Given the description of an element on the screen output the (x, y) to click on. 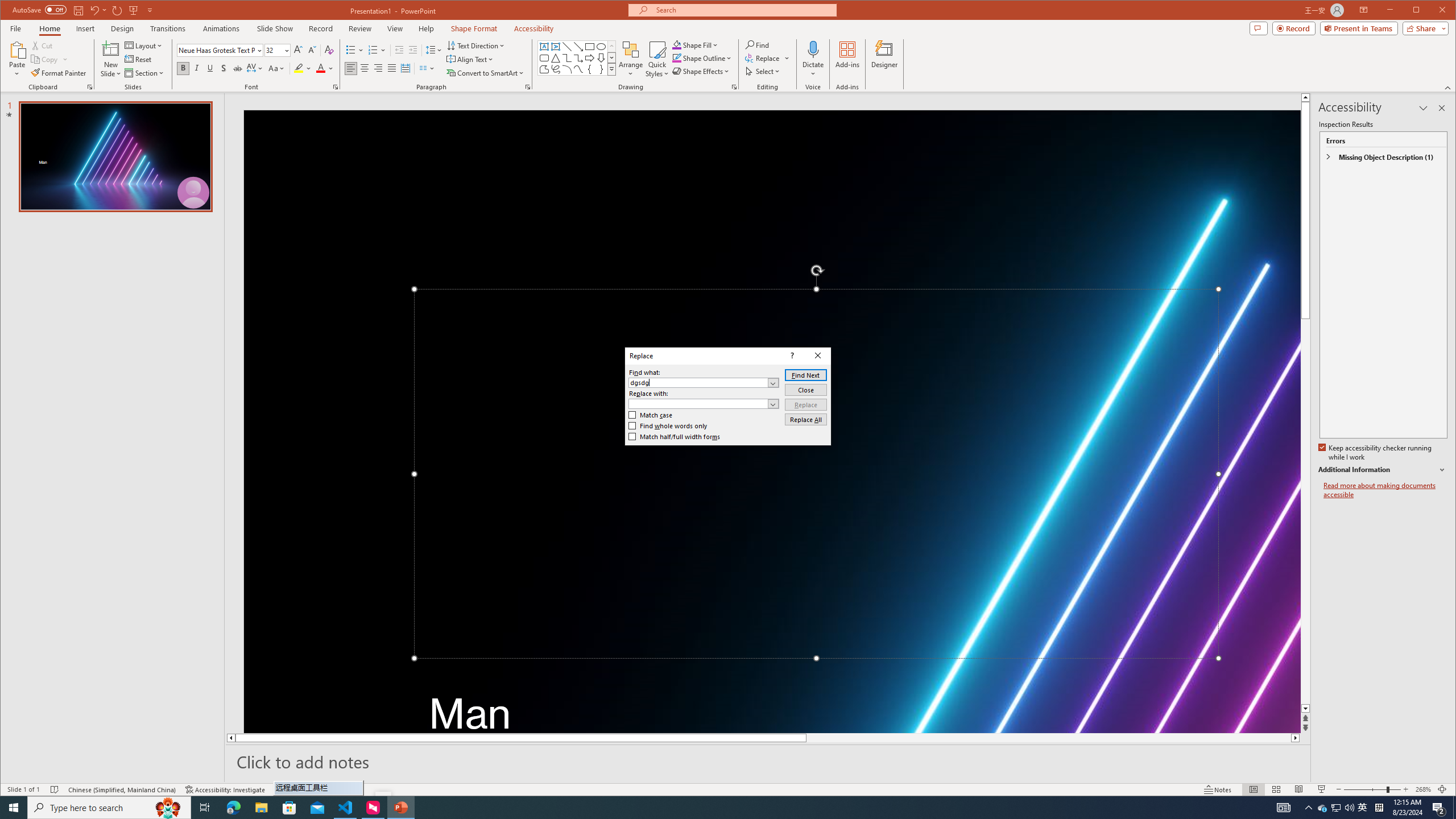
Microsoft Edge (233, 807)
